Given the description of an element on the screen output the (x, y) to click on. 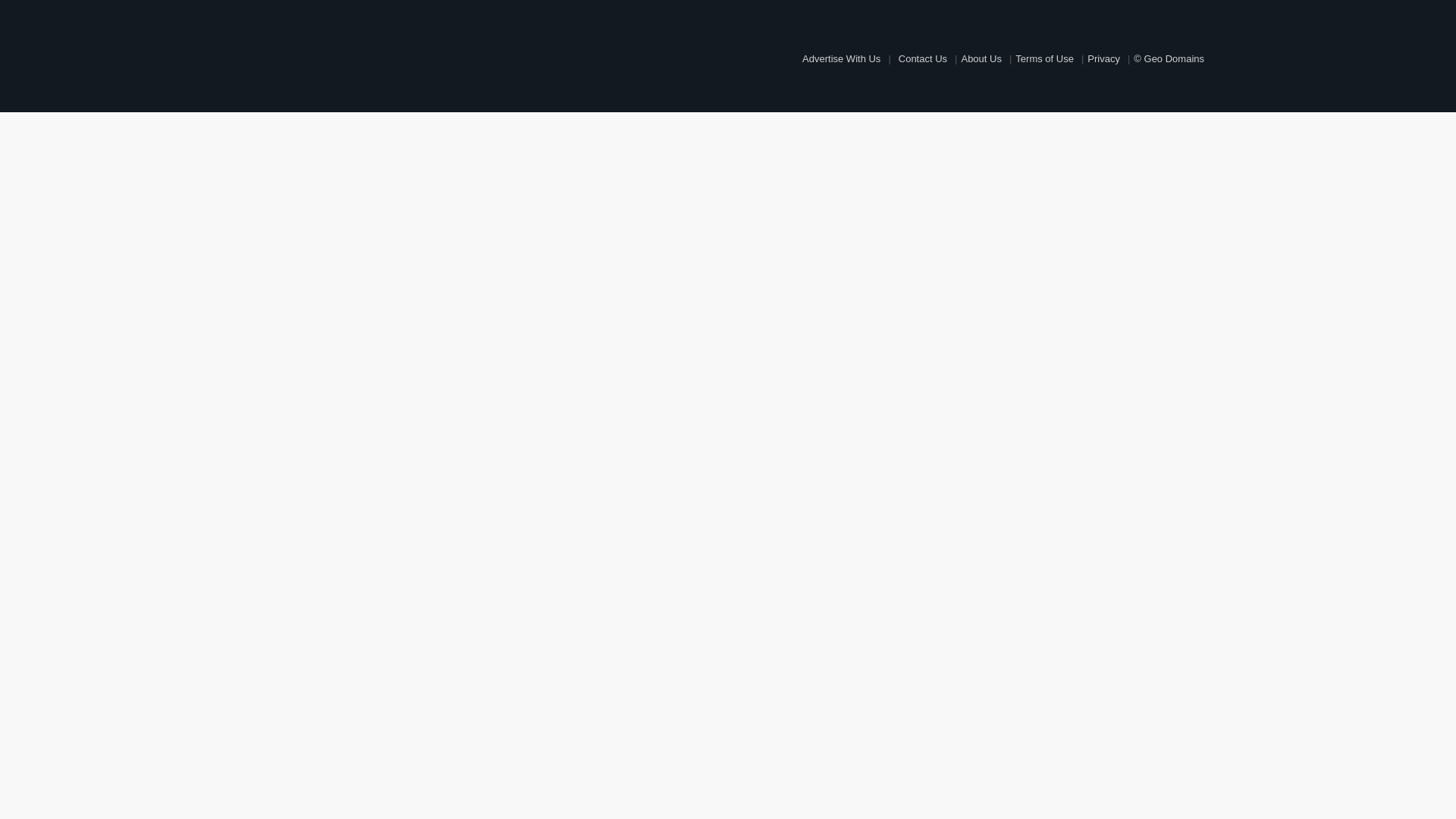
Contact Us Element type: text (922, 58)
Privacy Element type: text (1103, 58)
About Us Element type: text (980, 58)
Terms of Use Element type: text (1044, 58)
Advertise With Us Element type: text (841, 58)
